Given the description of an element on the screen output the (x, y) to click on. 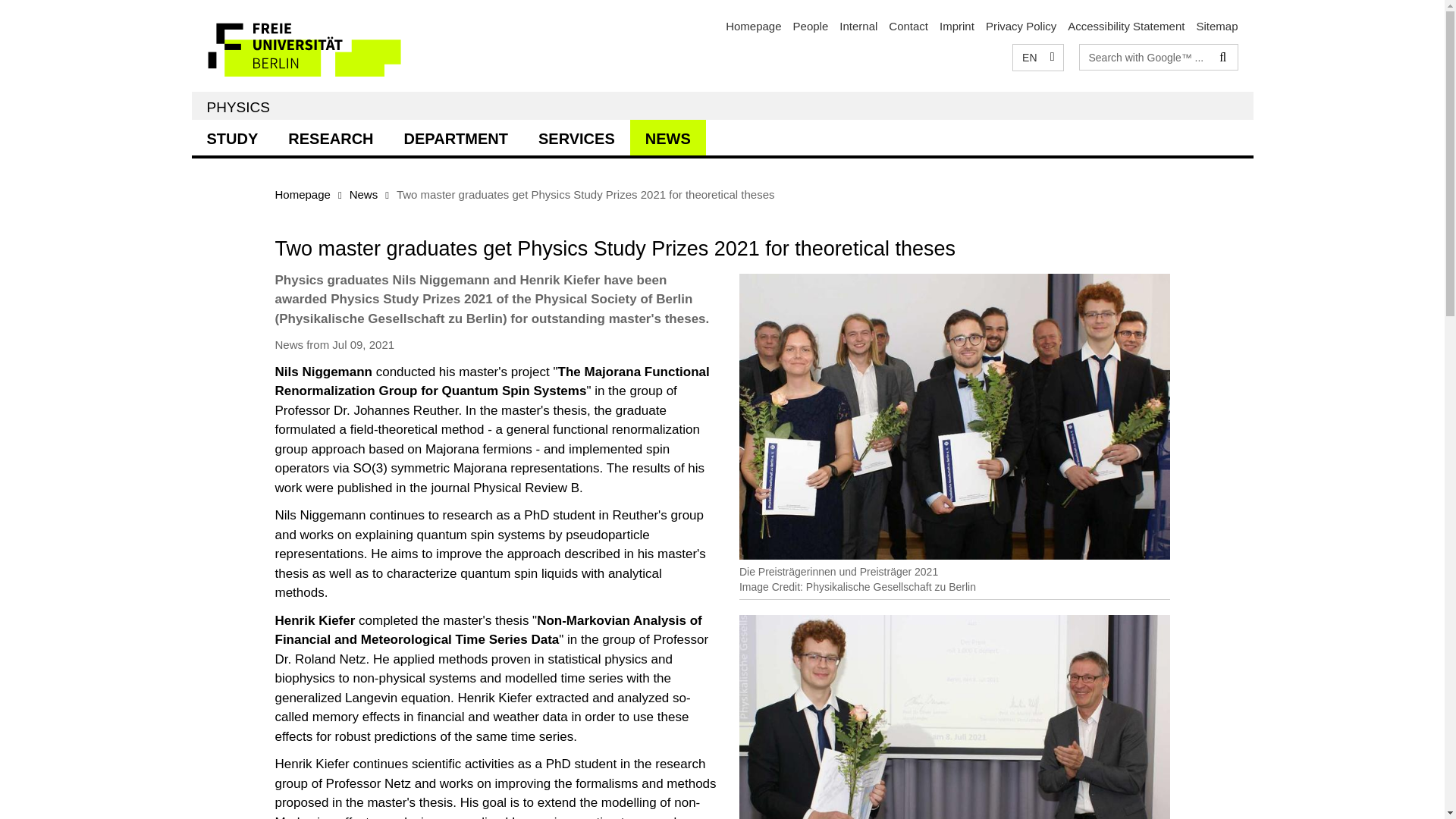
Imprint (956, 25)
People (810, 25)
To the Homepage of: Physics (752, 25)
Internal (858, 25)
Fachbereichsinterner Bereich (858, 25)
Show large image (954, 415)
Show large image (954, 717)
Please enter search term here (1144, 56)
Contact (908, 25)
Sitemap (1216, 25)
